Given the description of an element on the screen output the (x, y) to click on. 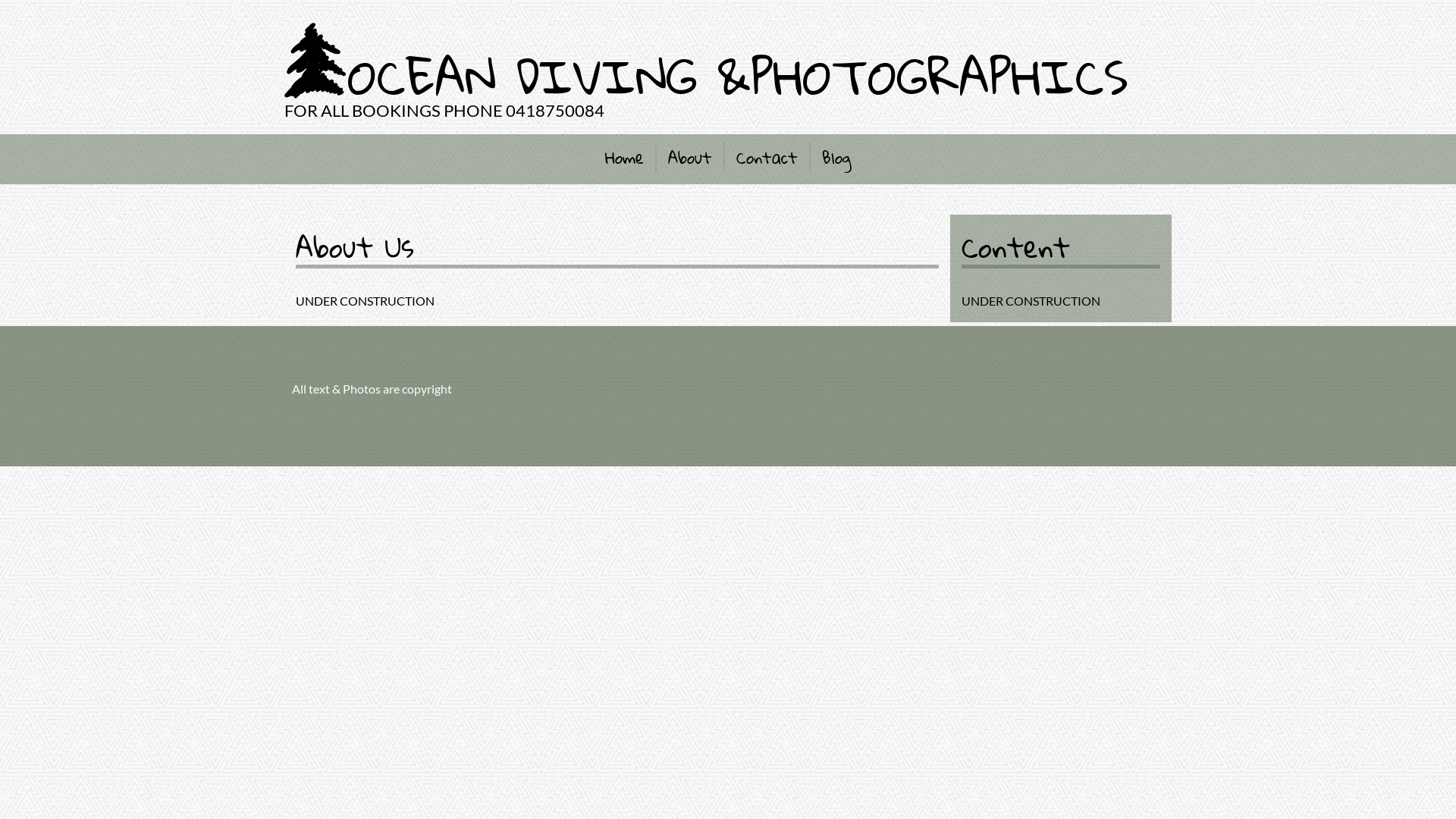
Contact Element type: text (767, 156)
Blog Element type: text (830, 156)
About Element type: text (690, 156)
Home Element type: text (630, 156)
OCEAN DIVING &PHOTOGRAPHICS Element type: text (737, 75)
